Given the description of an element on the screen output the (x, y) to click on. 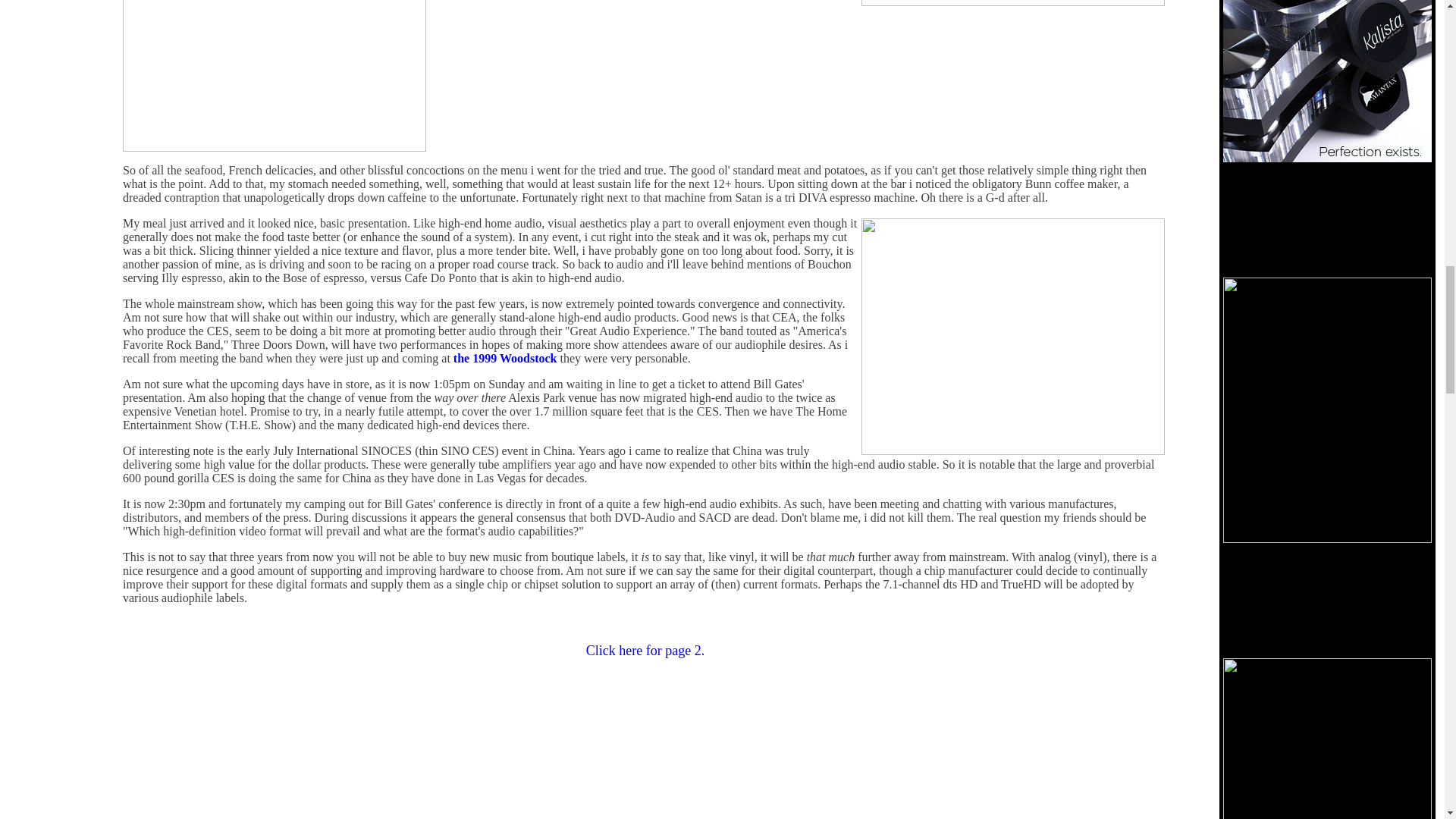
the 1999 Woodstock (504, 358)
Click here for page 2. (645, 650)
